Given the description of an element on the screen output the (x, y) to click on. 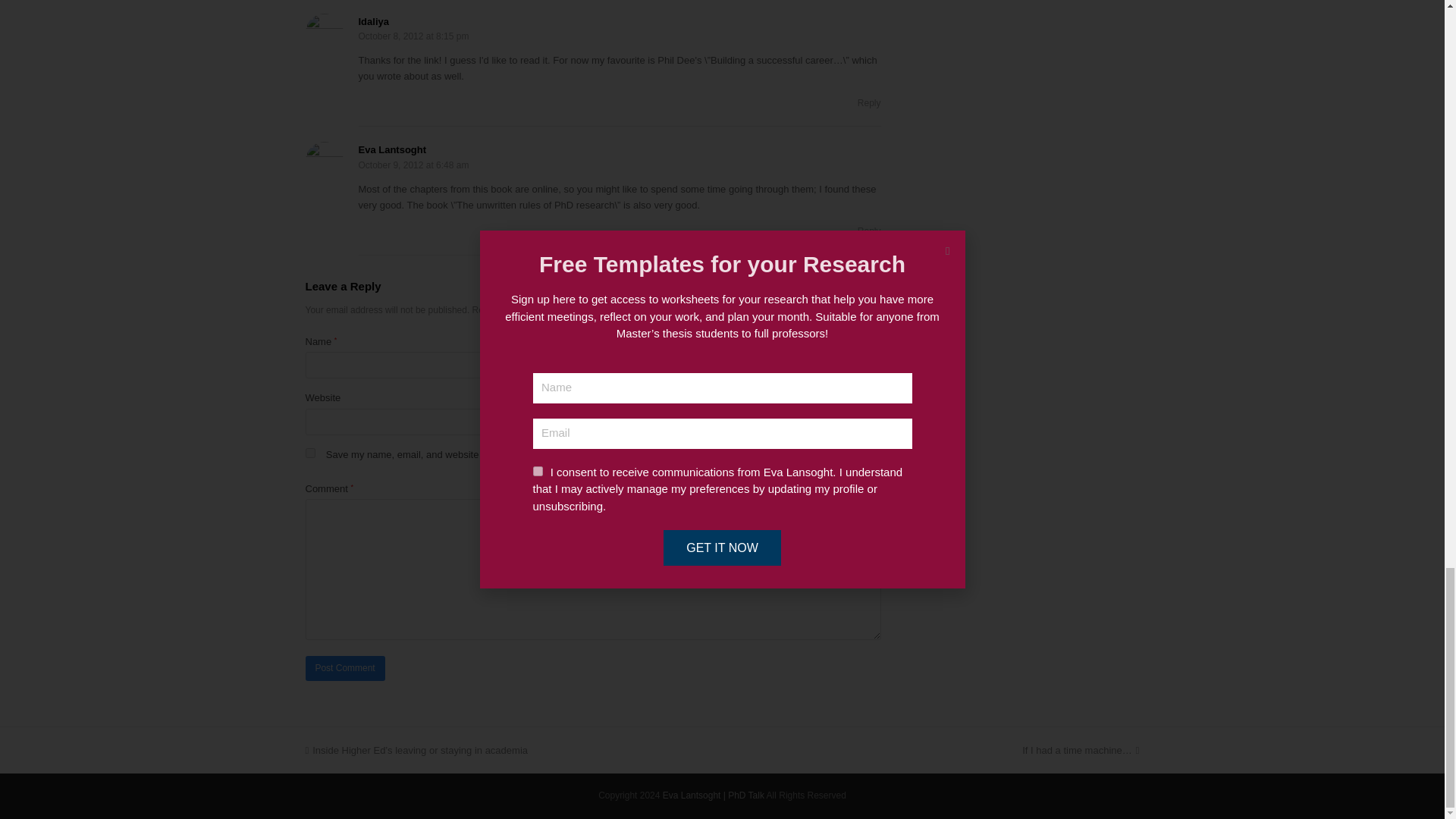
Post Comment (344, 668)
yes (309, 452)
